Given the description of an element on the screen output the (x, y) to click on. 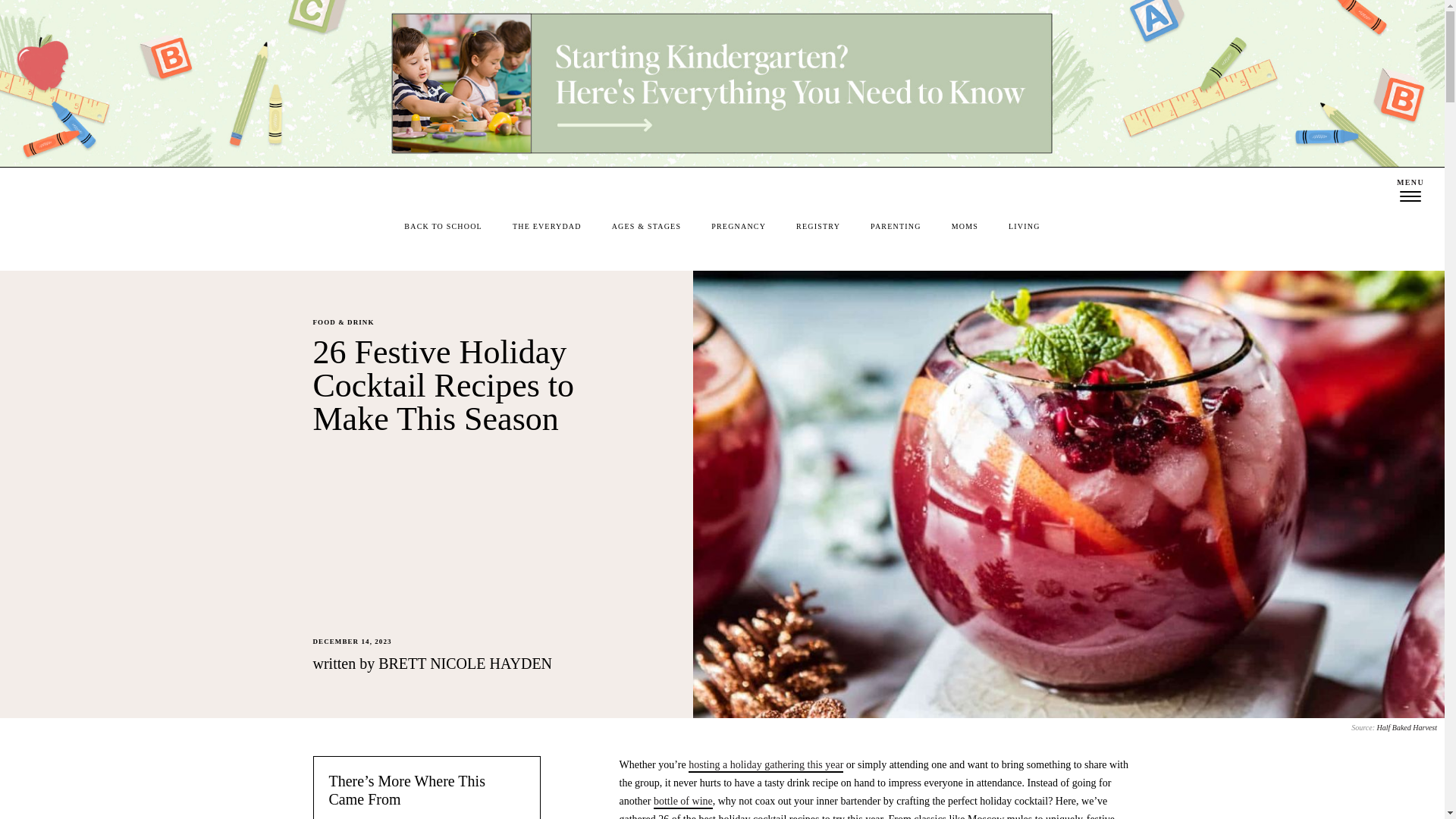
The Everymom (721, 190)
BACK TO SCHOOL (442, 226)
REGISTRY (818, 226)
PREGNANCY (738, 226)
Instagram (23, 189)
THE EVERYDAD (546, 226)
